Given the description of an element on the screen output the (x, y) to click on. 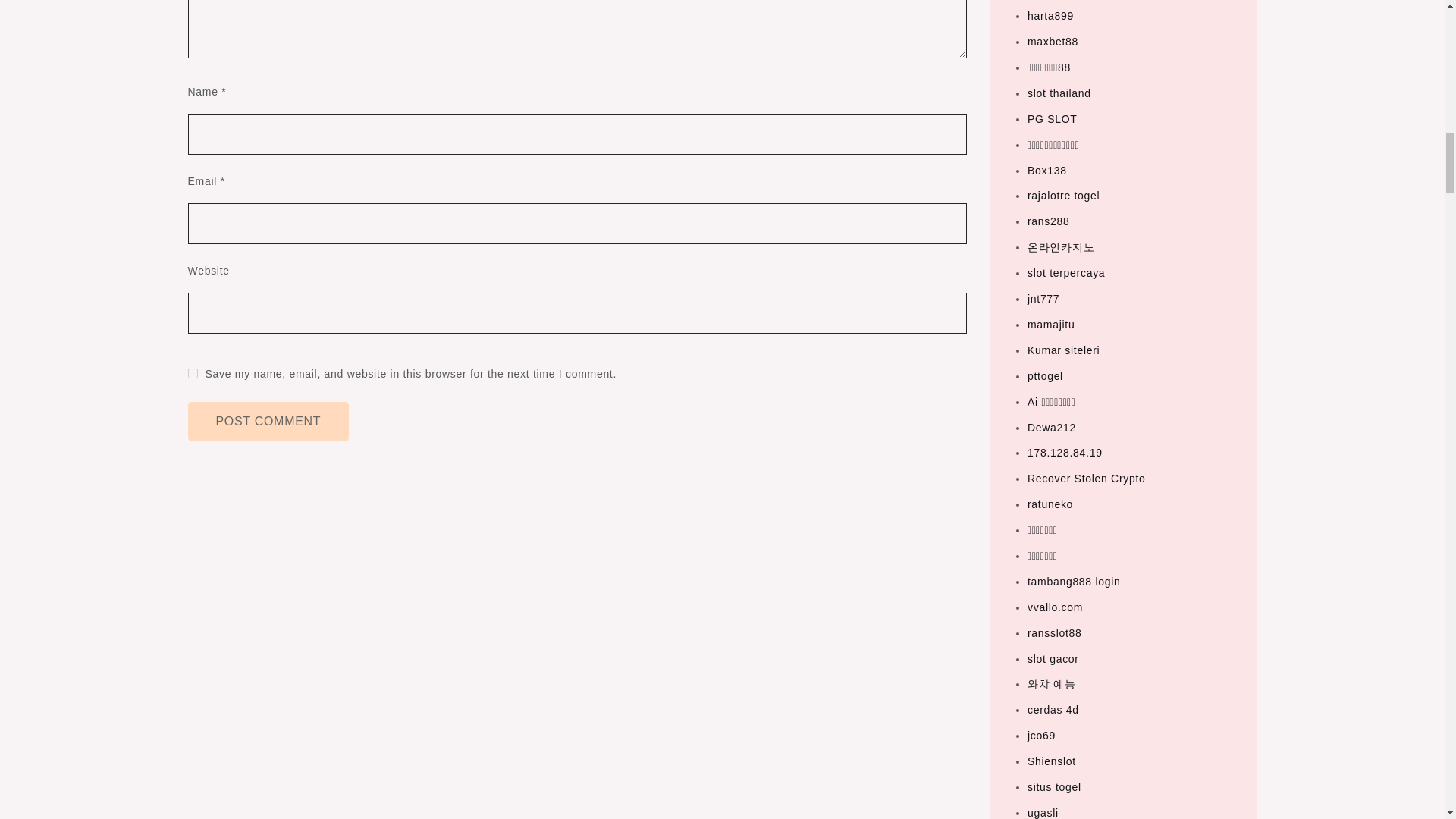
Post Comment (268, 421)
yes (192, 373)
Post Comment (268, 421)
